Given the description of an element on the screen output the (x, y) to click on. 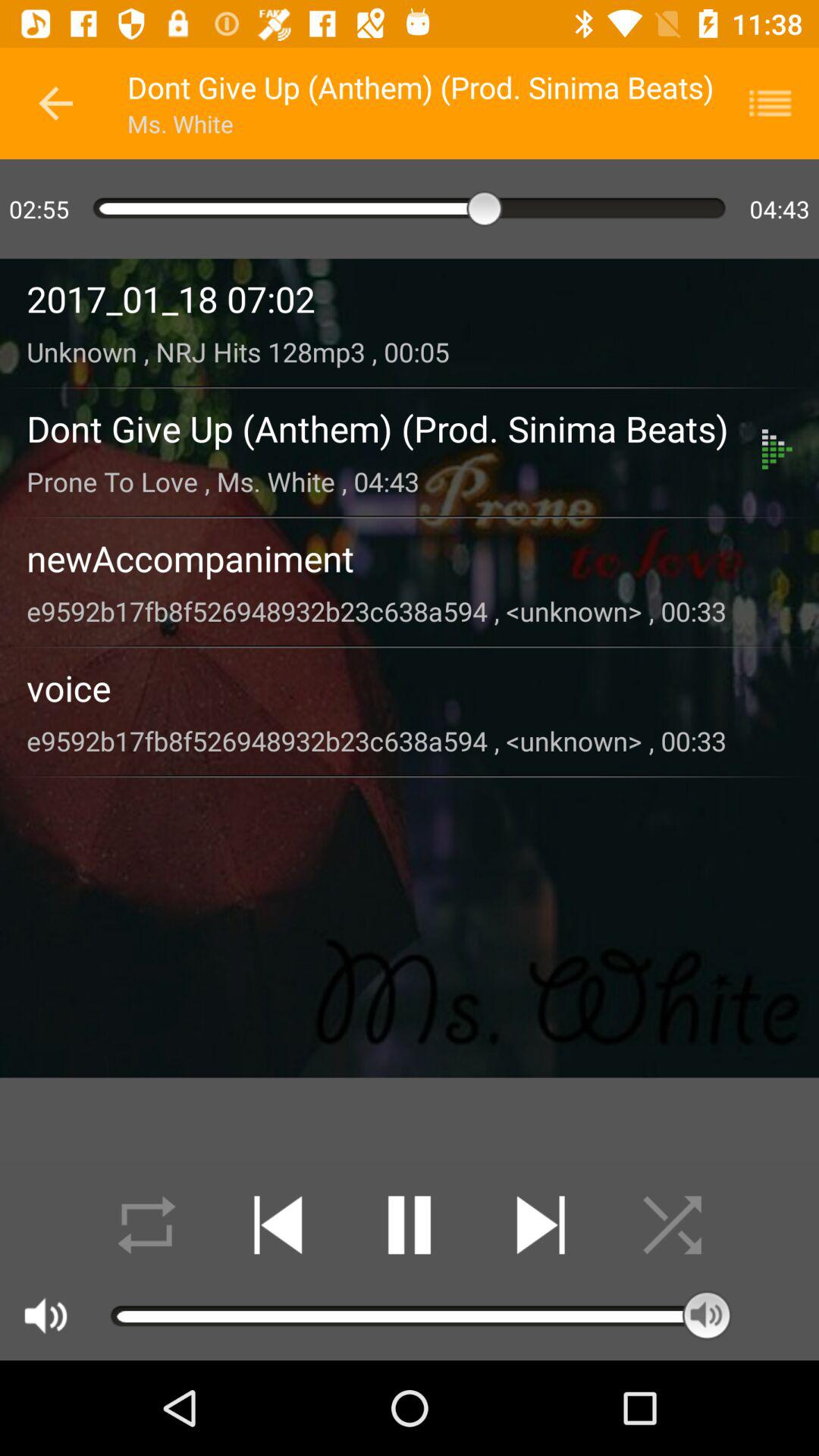
pause song (409, 1224)
